Given the description of an element on the screen output the (x, y) to click on. 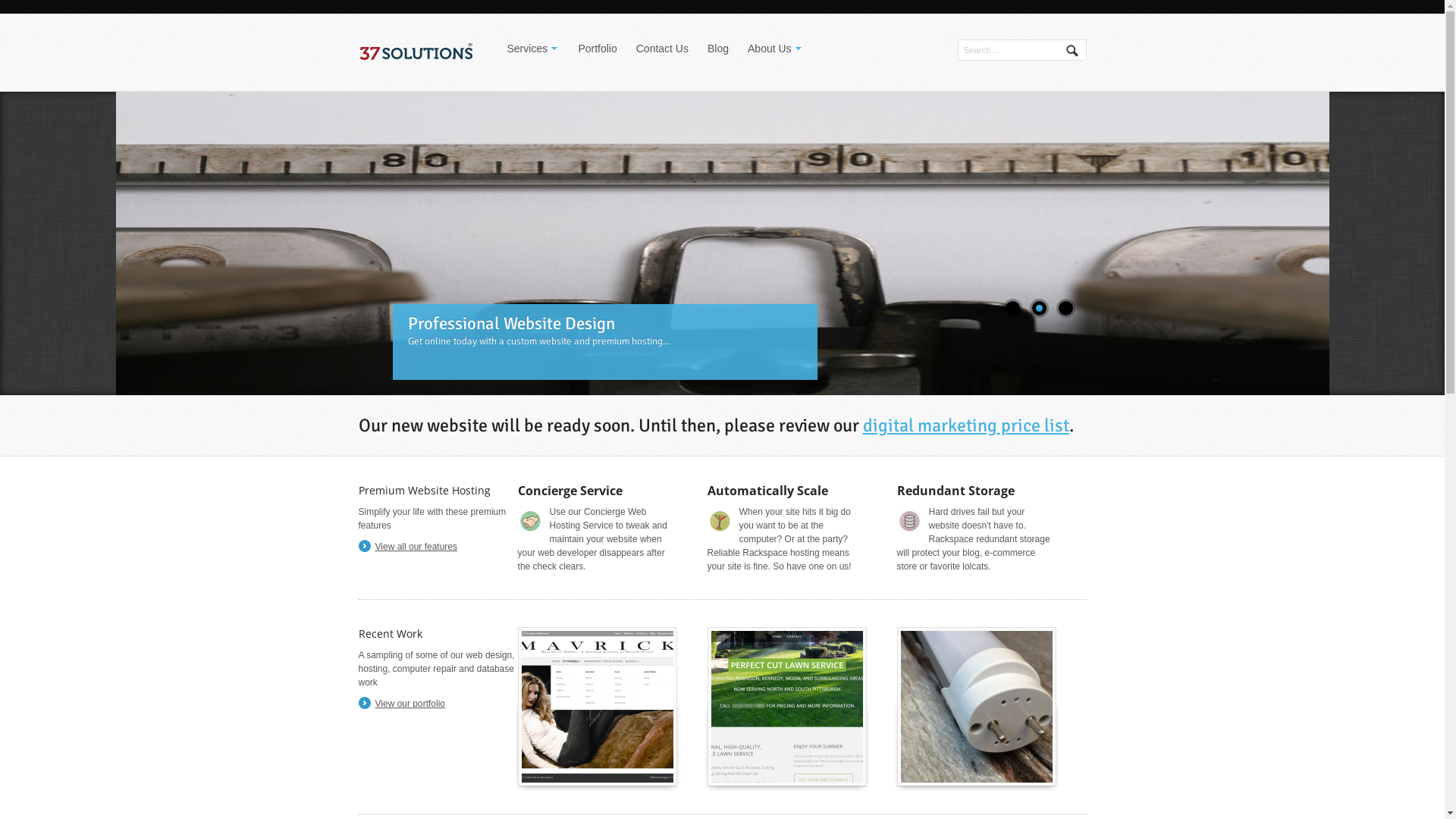
Blog Element type: text (717, 48)
Premium Cloud Hosting Element type: hover (722, 243)
About Us Element type: text (775, 48)
Contact Us Element type: text (662, 48)
Mavrick Fit Models Element type: hover (597, 706)
Professional Website Design Element type: hover (722, 151)
Redundant Storage Element type: text (955, 490)
Concierge Service Element type: text (569, 490)
Web Hosting, Design, and Management Element type: hover (414, 51)
Services Element type: text (532, 48)
View our portfolio Element type: text (402, 703)
1 Element type: text (1012, 308)
2 Element type: text (1038, 308)
Perfect Cut Lawn Service Element type: hover (786, 706)
T8 LEDs Now Element type: hover (976, 706)
Premium Cloud Hosting Element type: text (493, 323)
Premium Cloud Hosting Element type: hover (721, 243)
Portfolio Element type: text (597, 48)
View all our features Element type: text (408, 546)
3 Element type: text (1065, 308)
digital marketing price list Element type: text (965, 425)
Automatically Scale Element type: text (767, 490)
